Given the description of an element on the screen output the (x, y) to click on. 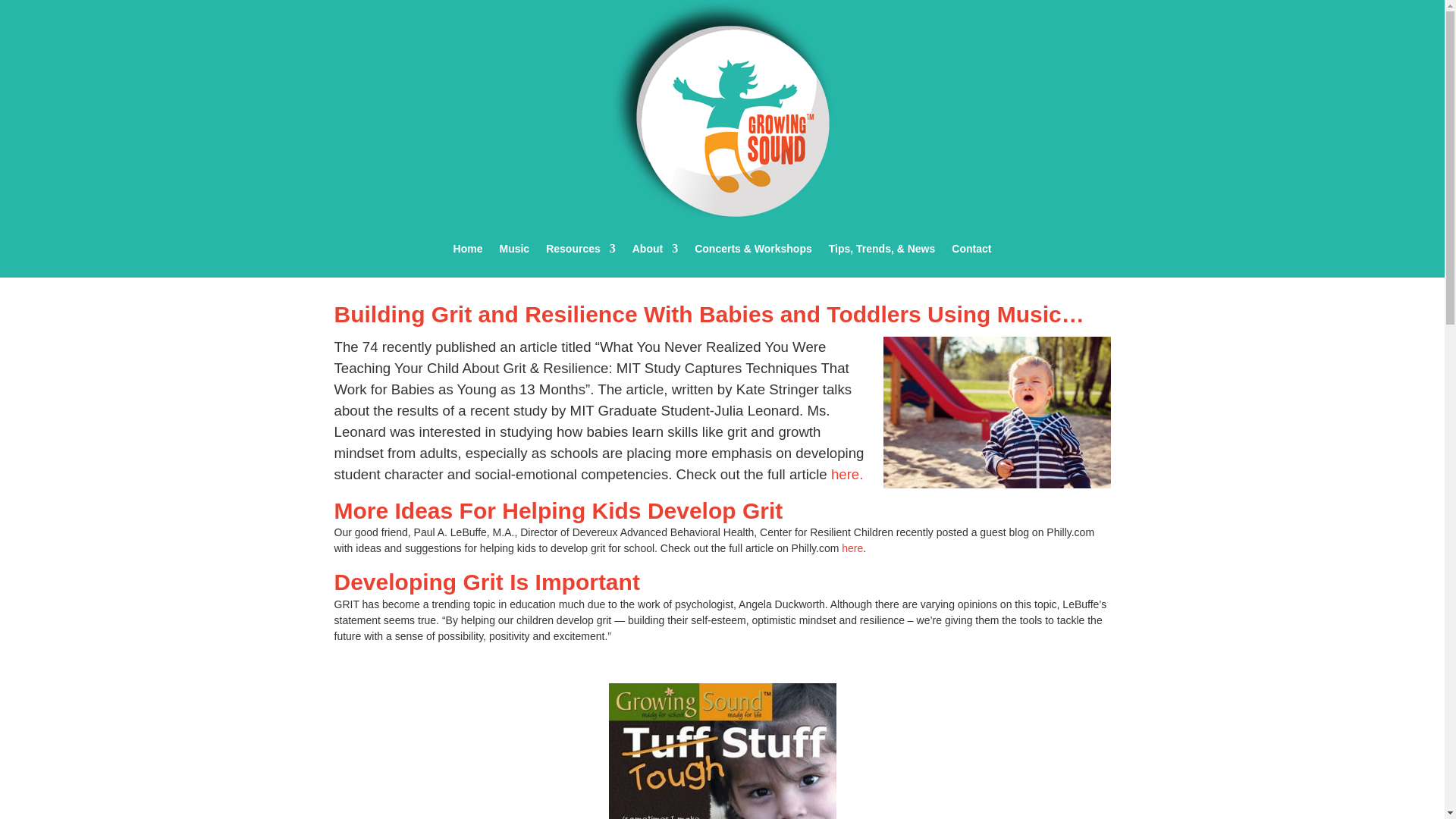
here. (847, 473)
here (852, 548)
Resources (580, 248)
